Given the description of an element on the screen output the (x, y) to click on. 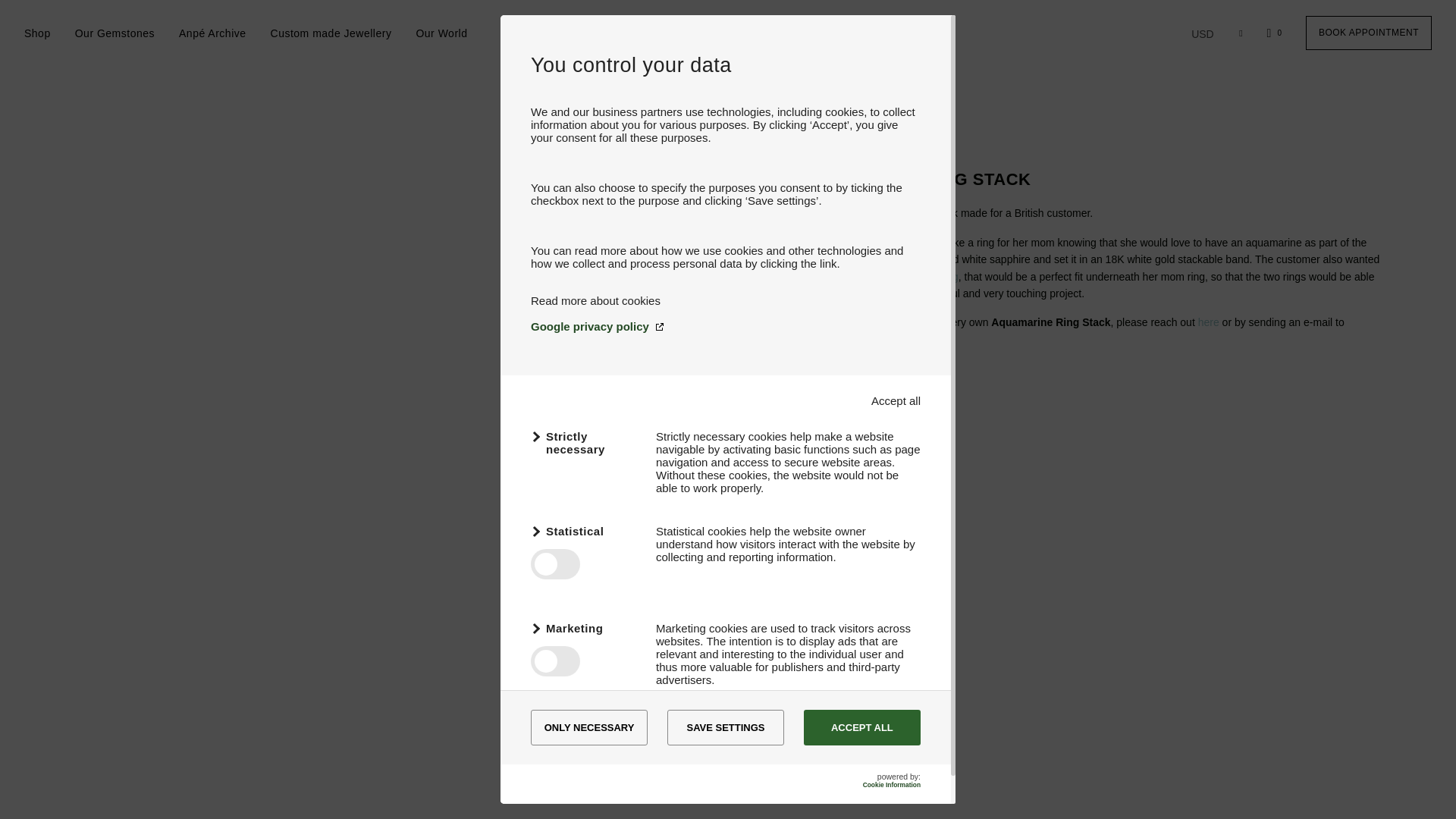
Statistical (584, 530)
Strictly necessary (584, 442)
Google privacy policy (725, 326)
Read more about cookies (596, 300)
Accept all (895, 400)
ACCEPT ALL (861, 727)
Cookie Information (891, 784)
SAVE SETTINGS (725, 727)
ONLY NECESSARY (589, 727)
Marketing (584, 628)
